Given the description of an element on the screen output the (x, y) to click on. 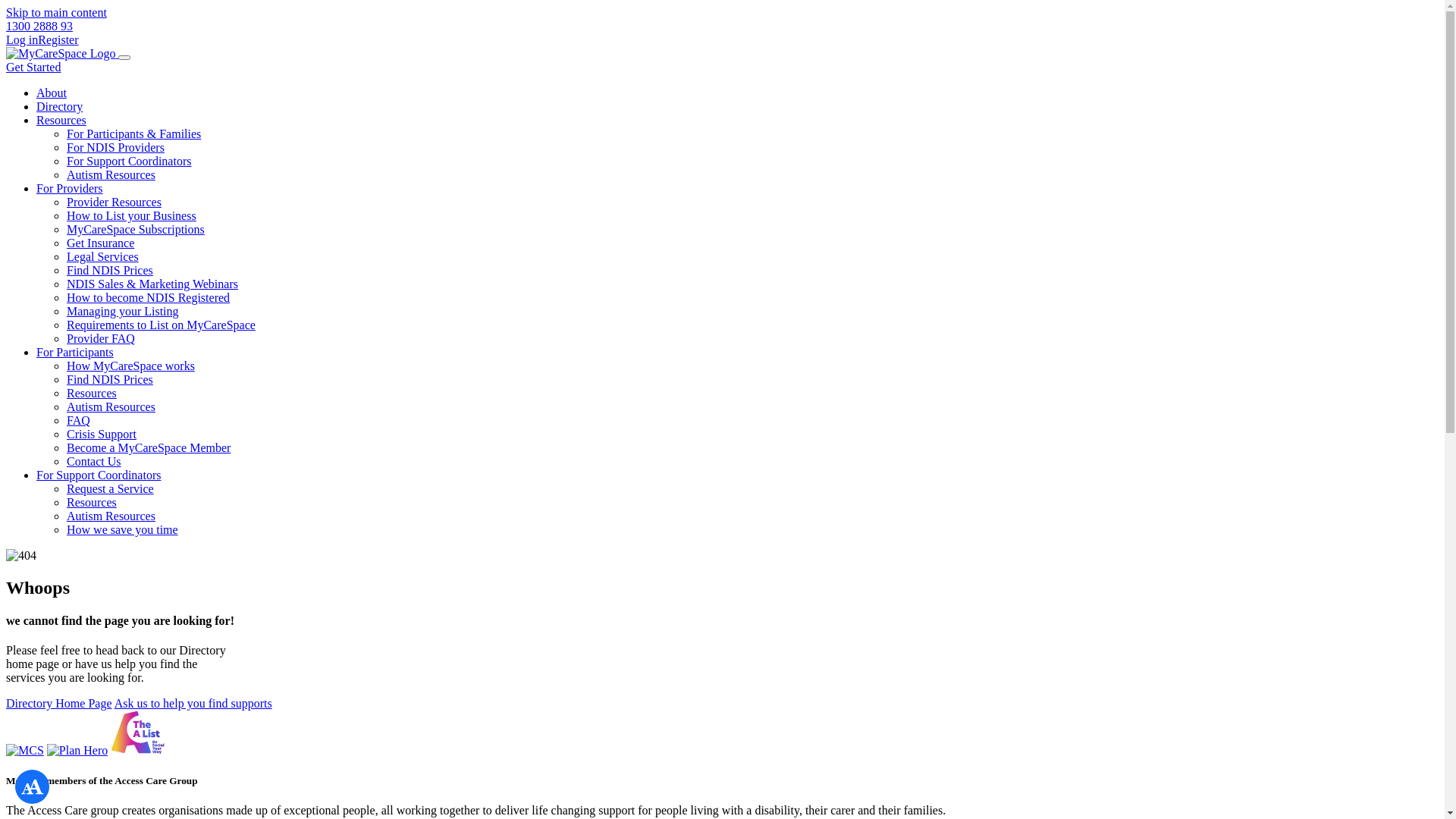
About Element type: text (51, 92)
Ask us to help you find supports Element type: text (193, 702)
Get Started Element type: text (33, 66)
Autism Resources Element type: text (110, 174)
Become a MyCareSpace Member Element type: text (148, 447)
How to List your Business Element type: text (131, 215)
Resources Element type: text (91, 501)
Register Element type: text (57, 39)
Find NDIS Prices Element type: text (109, 379)
For Support Coordinators Element type: text (98, 474)
For Participants Element type: text (74, 351)
Resources Element type: text (91, 392)
Managing your Listing Element type: text (122, 310)
Requirements to List on MyCareSpace Element type: text (160, 324)
Request a Service Element type: text (109, 488)
Autism Resources Element type: text (110, 515)
Find NDIS Prices Element type: text (109, 269)
Contact Us Element type: text (93, 461)
Autism Resources Element type: text (110, 406)
How we save you time Element type: text (122, 529)
How MyCareSpace works Element type: text (130, 365)
For Participants & Families Element type: text (133, 133)
Crisis Support Element type: text (101, 433)
Directory Element type: text (59, 106)
Provider FAQ Element type: text (100, 338)
Skip to main content Element type: text (56, 12)
Provider Resources Element type: text (113, 201)
Directory Home Page Element type: text (59, 702)
Get Insurance Element type: text (100, 242)
For Support Coordinators Element type: text (128, 160)
1300 2888 93 Element type: text (39, 25)
Legal Services Element type: text (102, 256)
How to become NDIS Registered Element type: text (147, 297)
FAQ Element type: text (78, 420)
Log in Element type: text (21, 39)
Resources Element type: text (61, 119)
For NDIS Providers Element type: text (115, 147)
MyCareSpace Subscriptions Element type: text (135, 228)
NDIS Sales & Marketing Webinars Element type: text (152, 283)
For Providers Element type: text (69, 188)
